Given the description of an element on the screen output the (x, y) to click on. 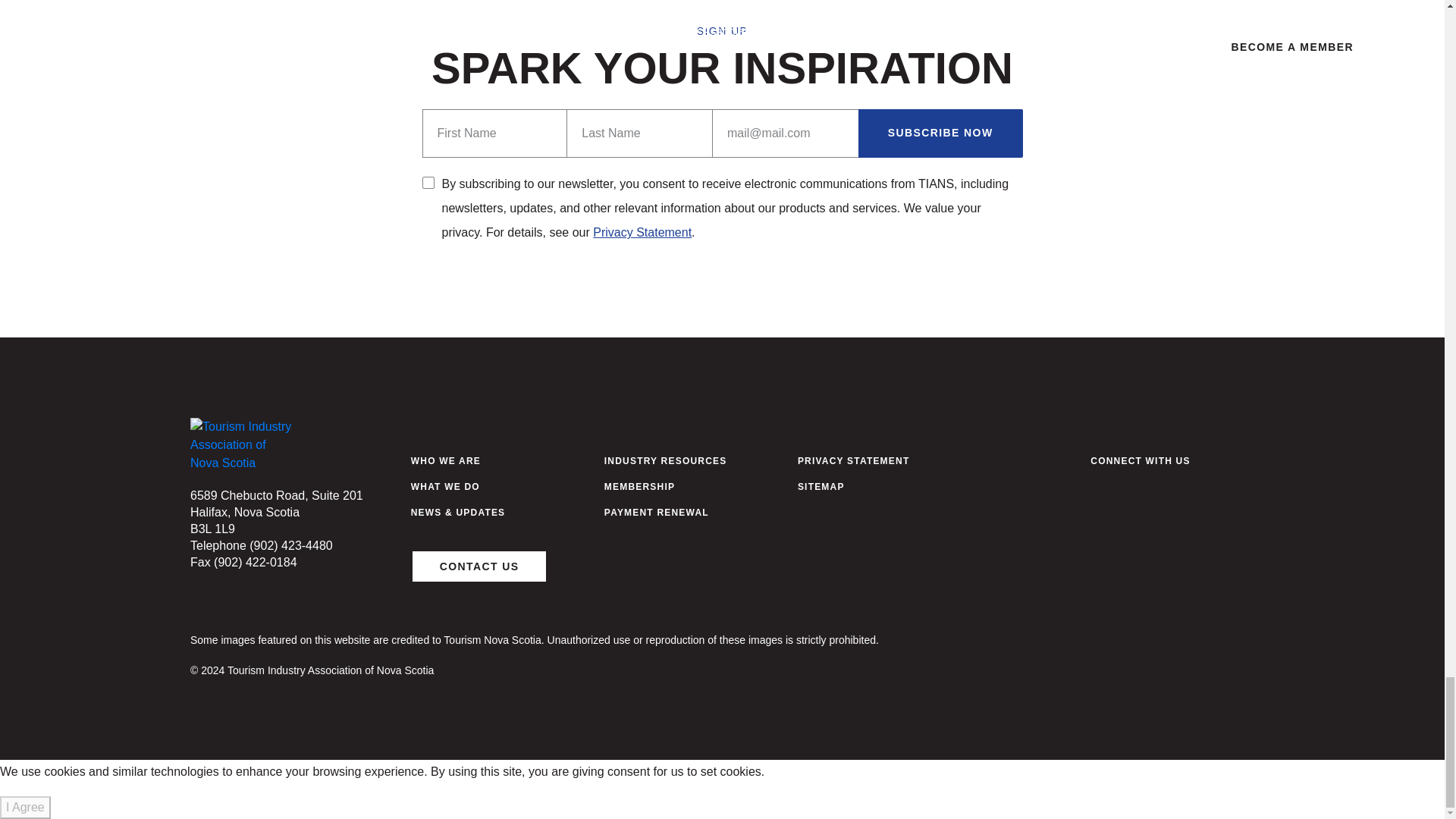
Subscribe Now (941, 133)
